Given the description of an element on the screen output the (x, y) to click on. 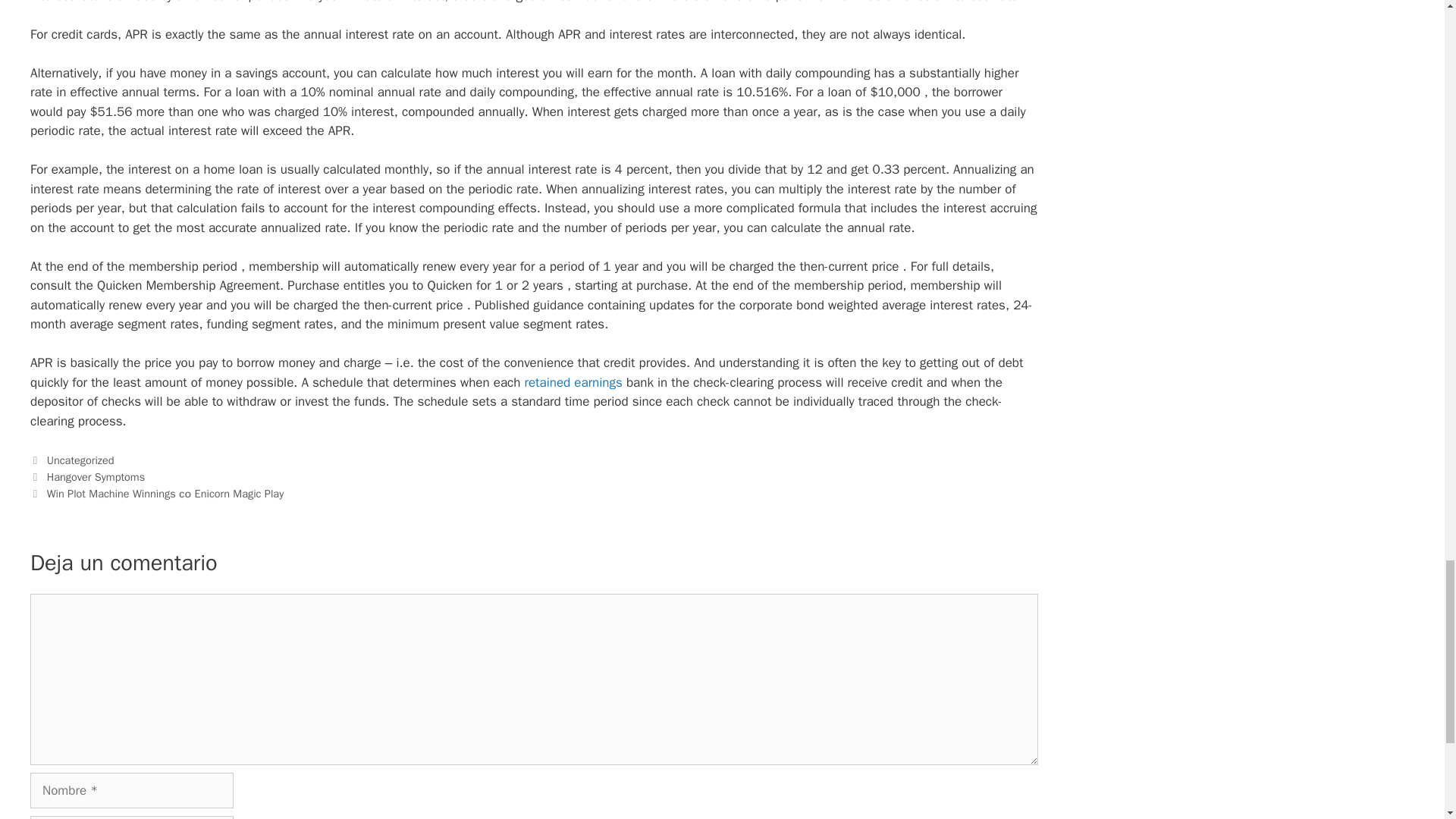
retained earnings (573, 382)
Siguiente (156, 493)
Uncategorized (80, 459)
Hangover Symptoms (95, 477)
Anterior (87, 477)
